Given the description of an element on the screen output the (x, y) to click on. 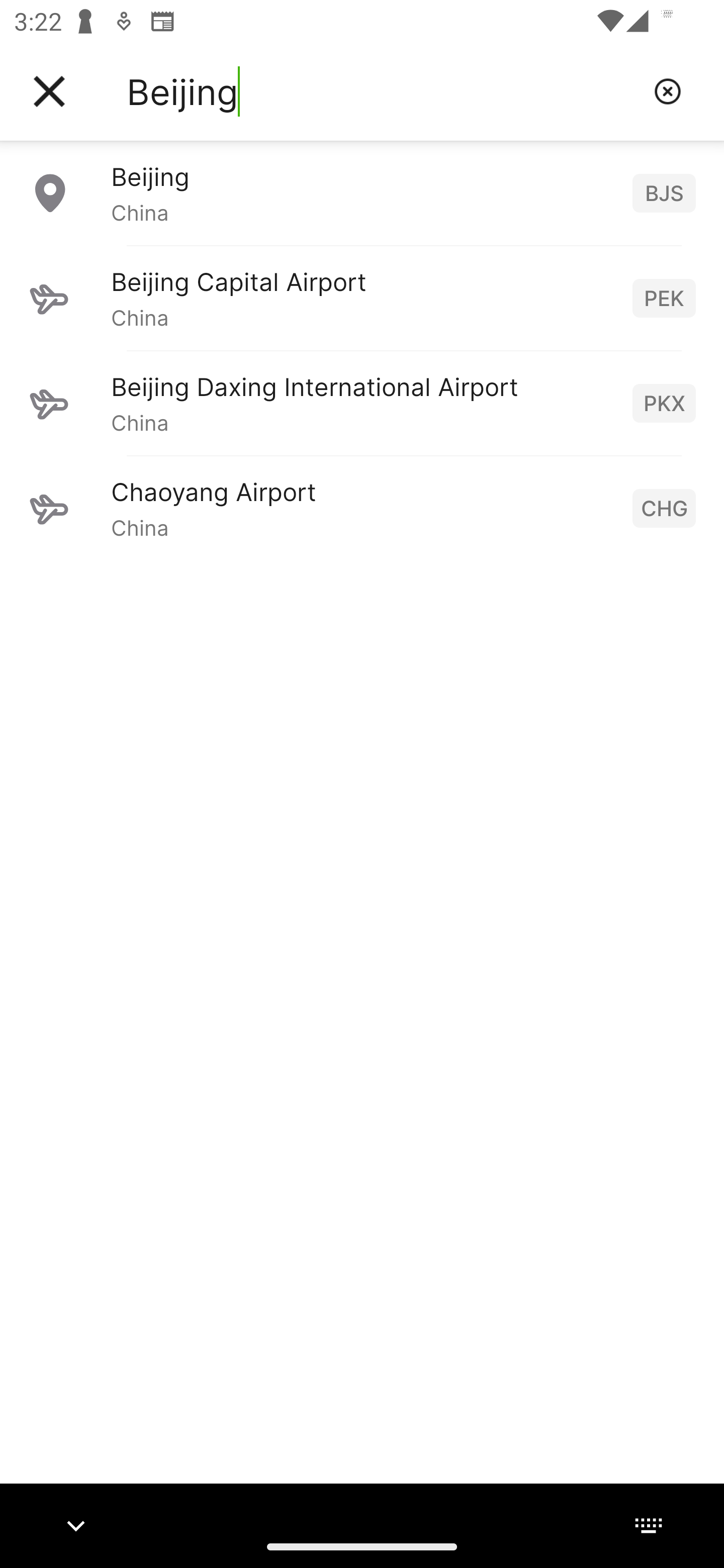
Beijing (382, 91)
Beijing China BJS (362, 192)
Beijing Capital Airport China PEK (362, 297)
Beijing Daxing International Airport China PKX (362, 402)
Chaoyang Airport China CHG (362, 507)
